Given the description of an element on the screen output the (x, y) to click on. 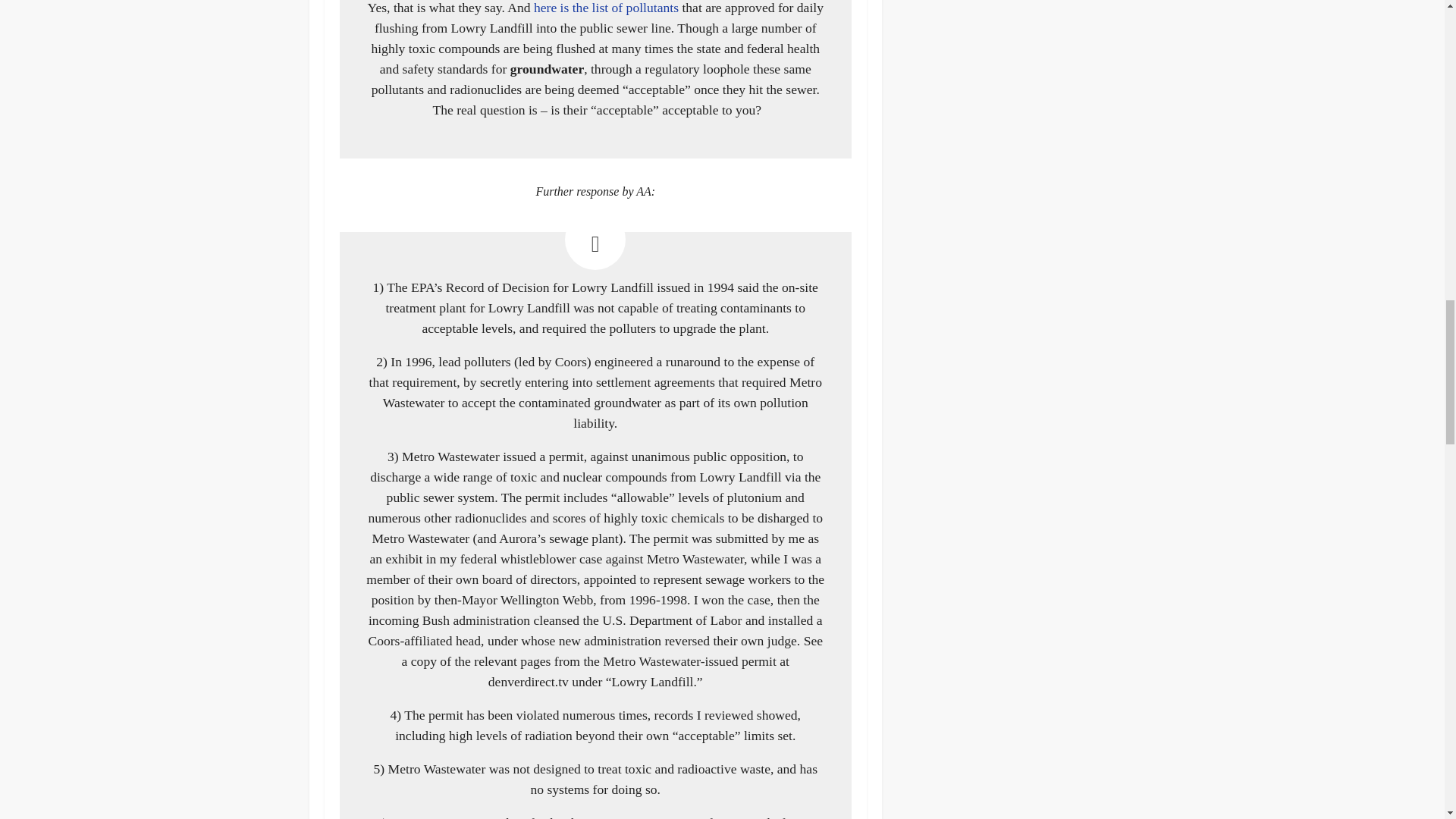
here is the list of pollutants (606, 7)
